Given the description of an element on the screen output the (x, y) to click on. 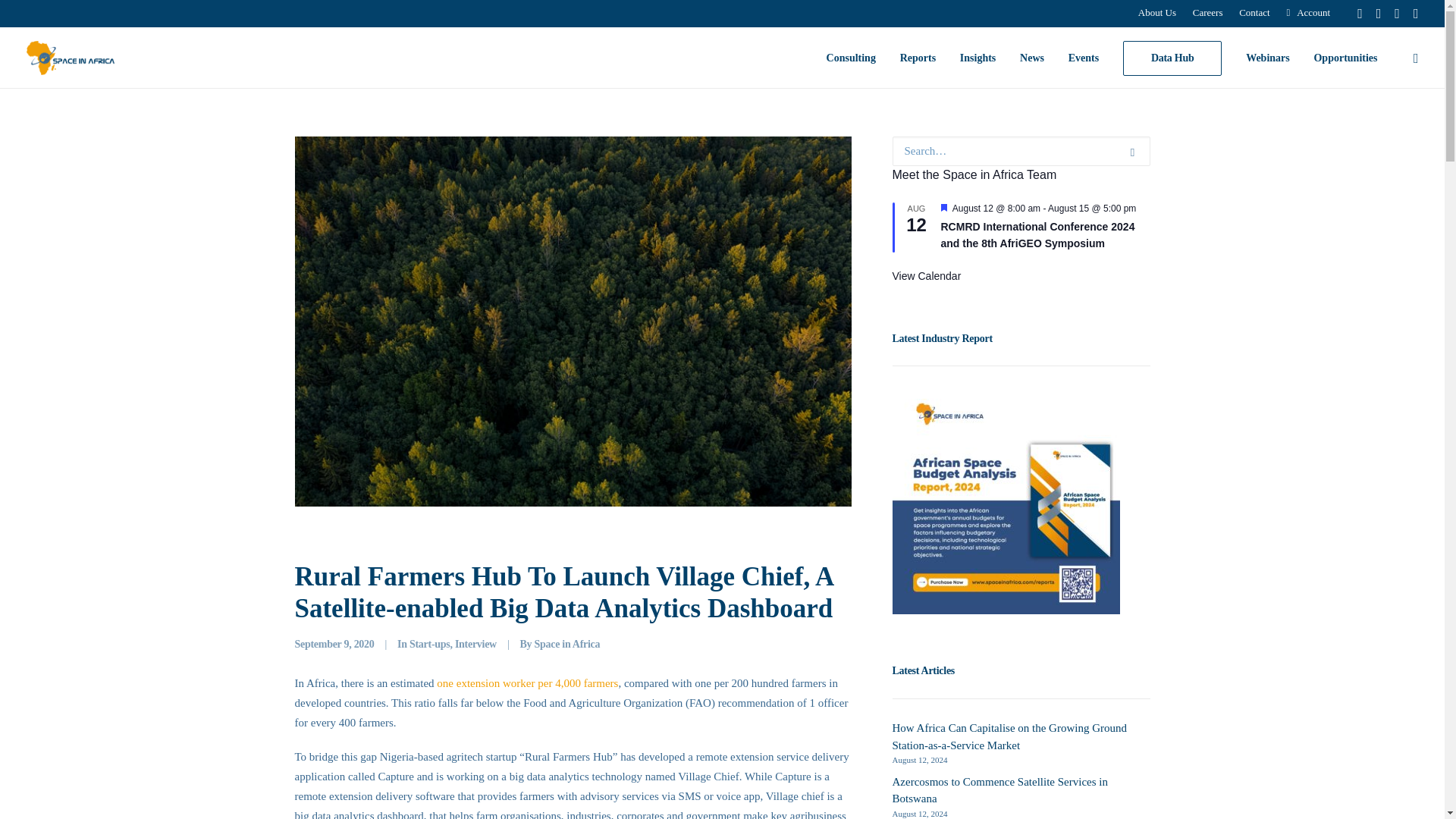
About Us (1156, 12)
Careers (1208, 12)
Insights (977, 57)
Reports (917, 57)
Consulting (850, 57)
Start-ups (429, 644)
Reports (917, 57)
Opportunities (1340, 57)
Contact (1253, 12)
